Given the description of an element on the screen output the (x, y) to click on. 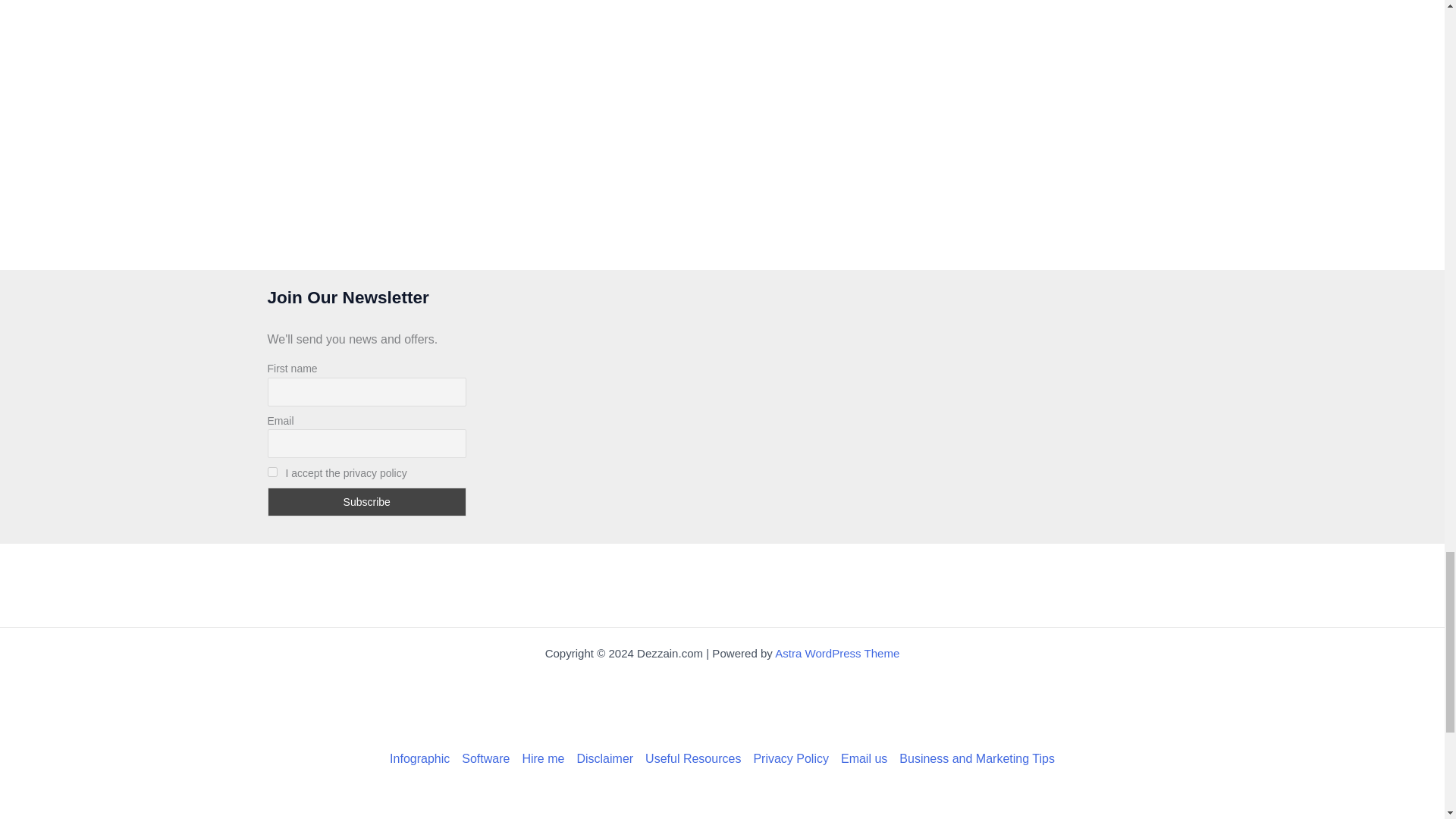
Hire Richie for Custom Work (542, 758)
Advertisement (721, 585)
Advertisement (721, 705)
Advertisement (721, 21)
Subscribe (365, 501)
on (271, 471)
